Given the description of an element on the screen output the (x, y) to click on. 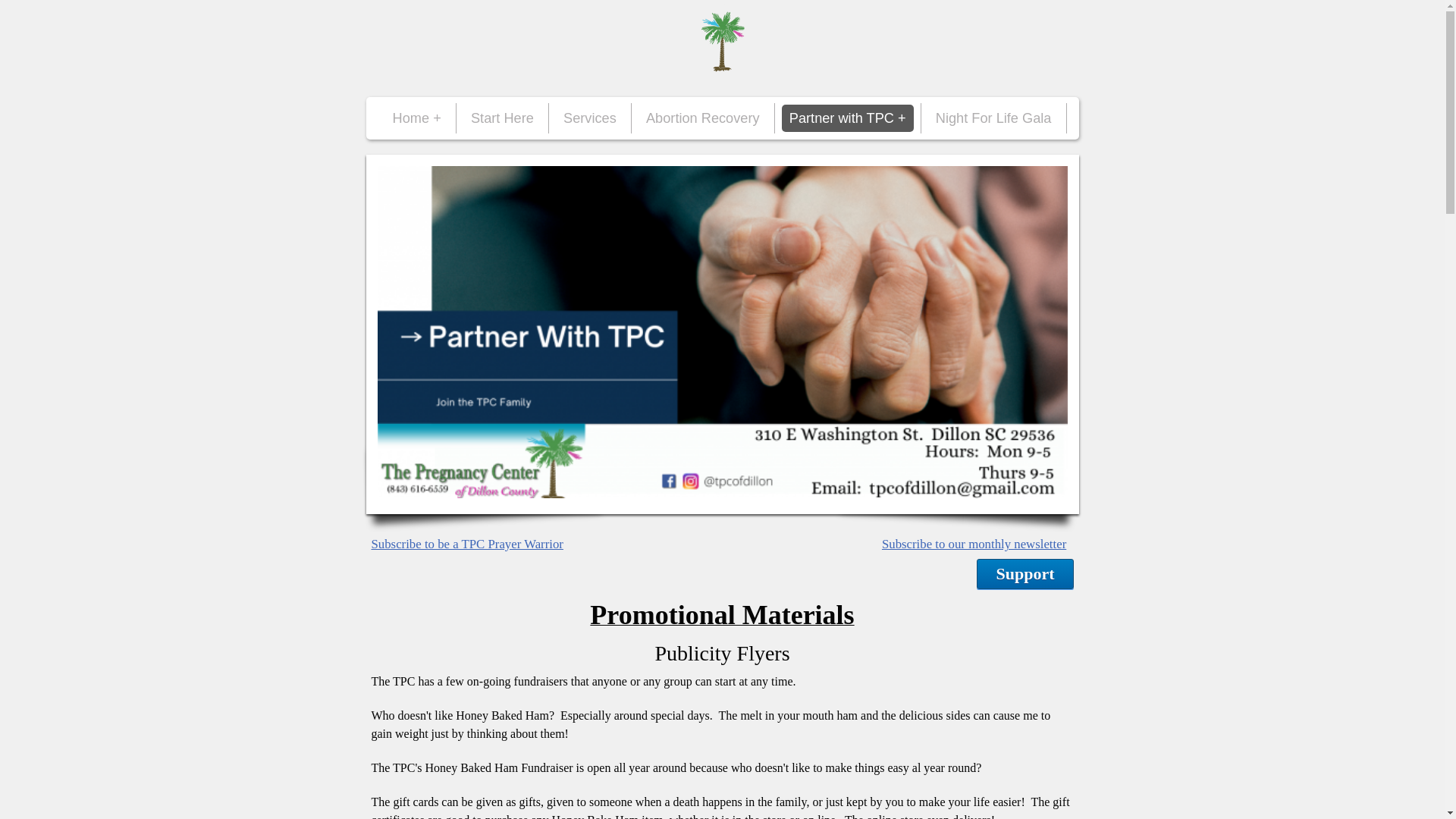
Night For Life Gala (993, 117)
Abortion Recovery (703, 117)
Start Here (502, 117)
Services (590, 117)
Subscribe to be a TPC Prayer Warrior (467, 544)
Services (590, 117)
Start Here (502, 117)
Subscribe to our monthly newsletter (973, 544)
Support (1024, 573)
Night For Life Gala (993, 117)
Abortion Recovery (703, 117)
